Given the description of an element on the screen output the (x, y) to click on. 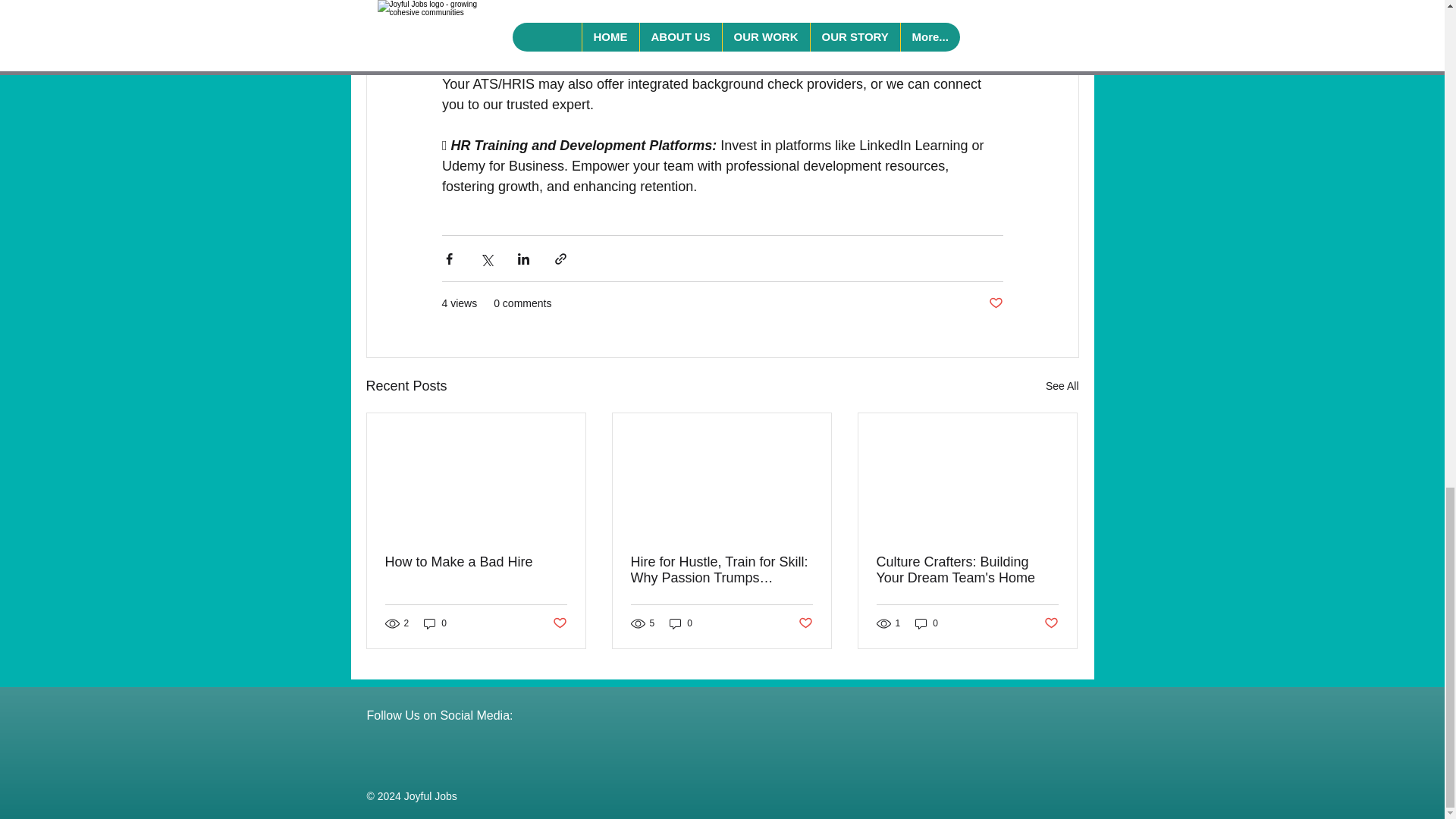
Post not marked as liked (558, 623)
How to Make a Bad Hire (476, 562)
0 (681, 622)
Post not marked as liked (1050, 623)
0 (435, 622)
Post not marked as liked (804, 623)
Culture Crafters: Building Your Dream Team's Home (967, 570)
0 (926, 622)
See All (1061, 386)
Post not marked as liked (995, 303)
